Given the description of an element on the screen output the (x, y) to click on. 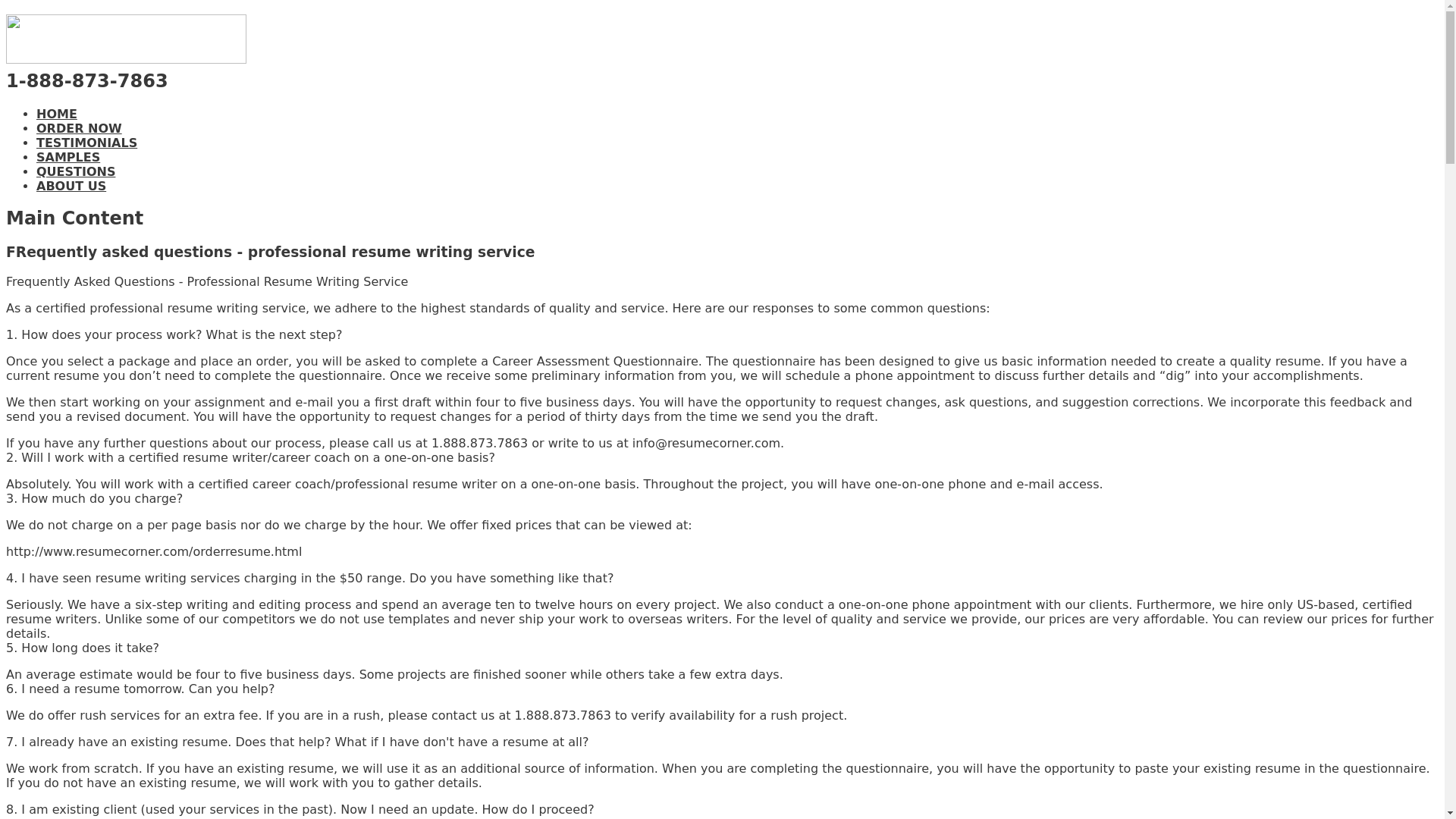
ABOUT US (71, 186)
TESTIMONIALS (86, 142)
ORDER NOW (79, 128)
HOME (56, 114)
SAMPLES (68, 156)
QUESTIONS (75, 171)
